Given the description of an element on the screen output the (x, y) to click on. 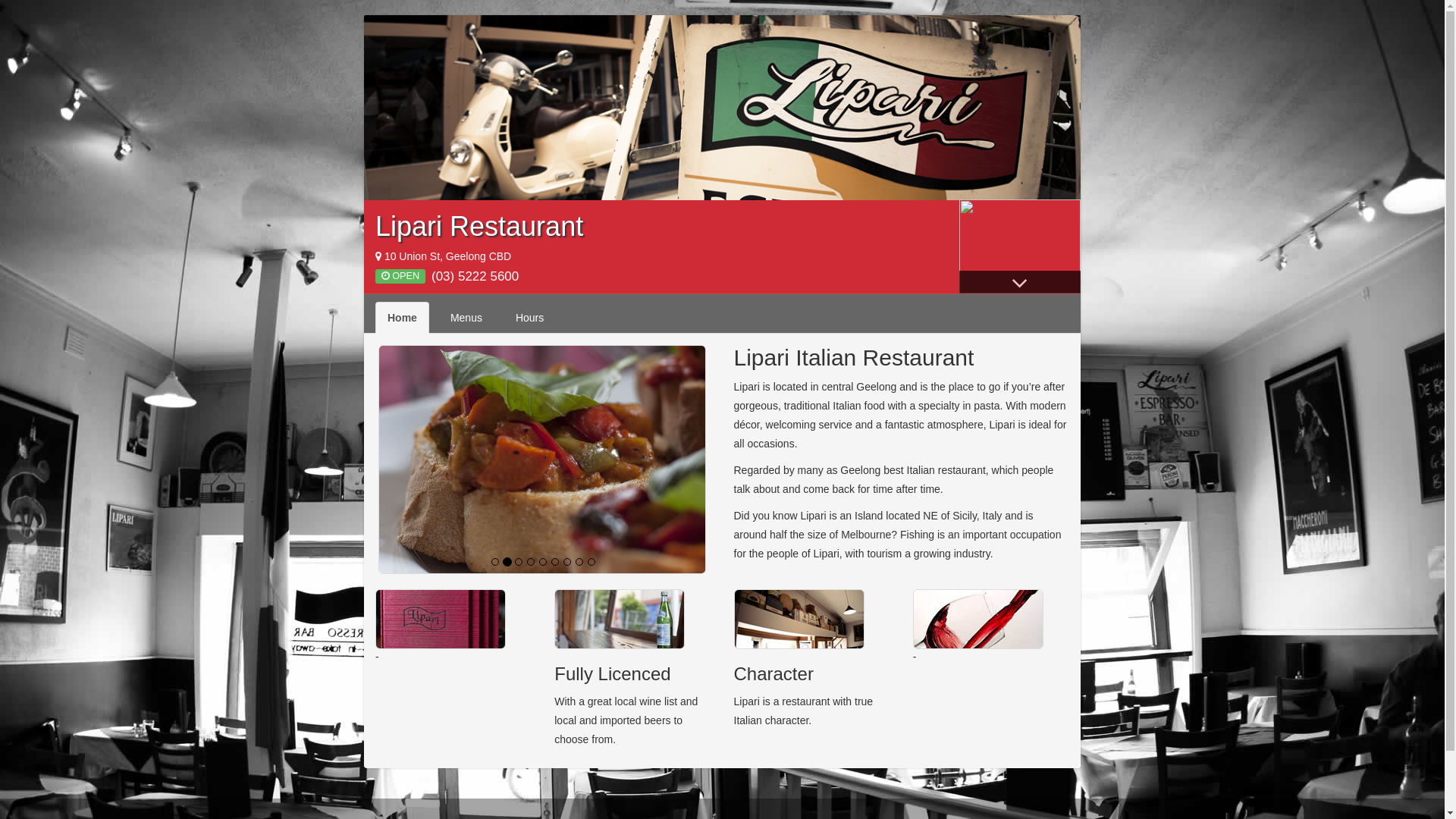
Home Element type: text (402, 317)
Hours Element type: text (529, 317)
Menus Element type: text (466, 317)
Lipari Element type: hover (722, 107)
